Given the description of an element on the screen output the (x, y) to click on. 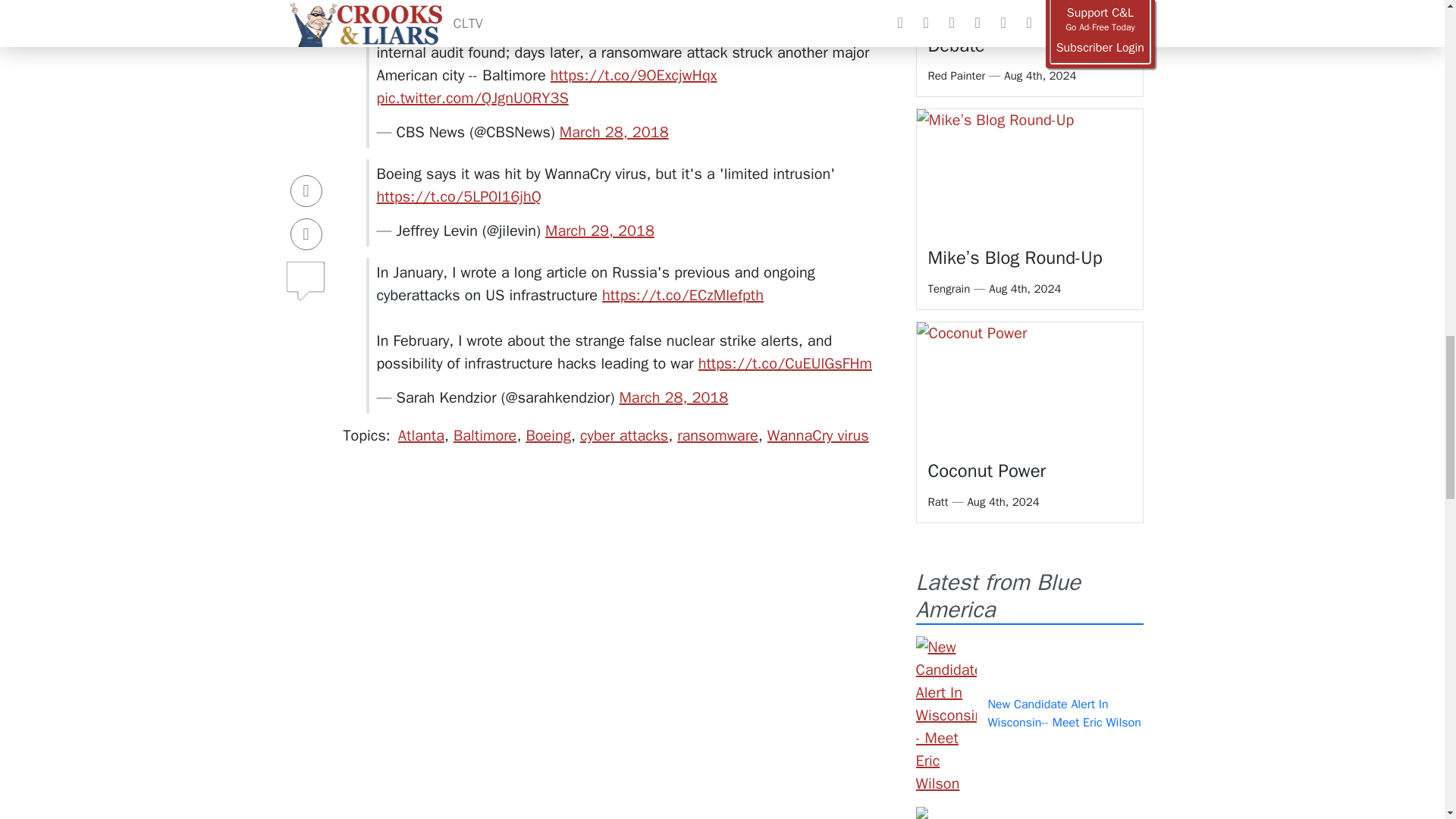
Insticator Content Engagement Unit (415, 750)
